Given the description of an element on the screen output the (x, y) to click on. 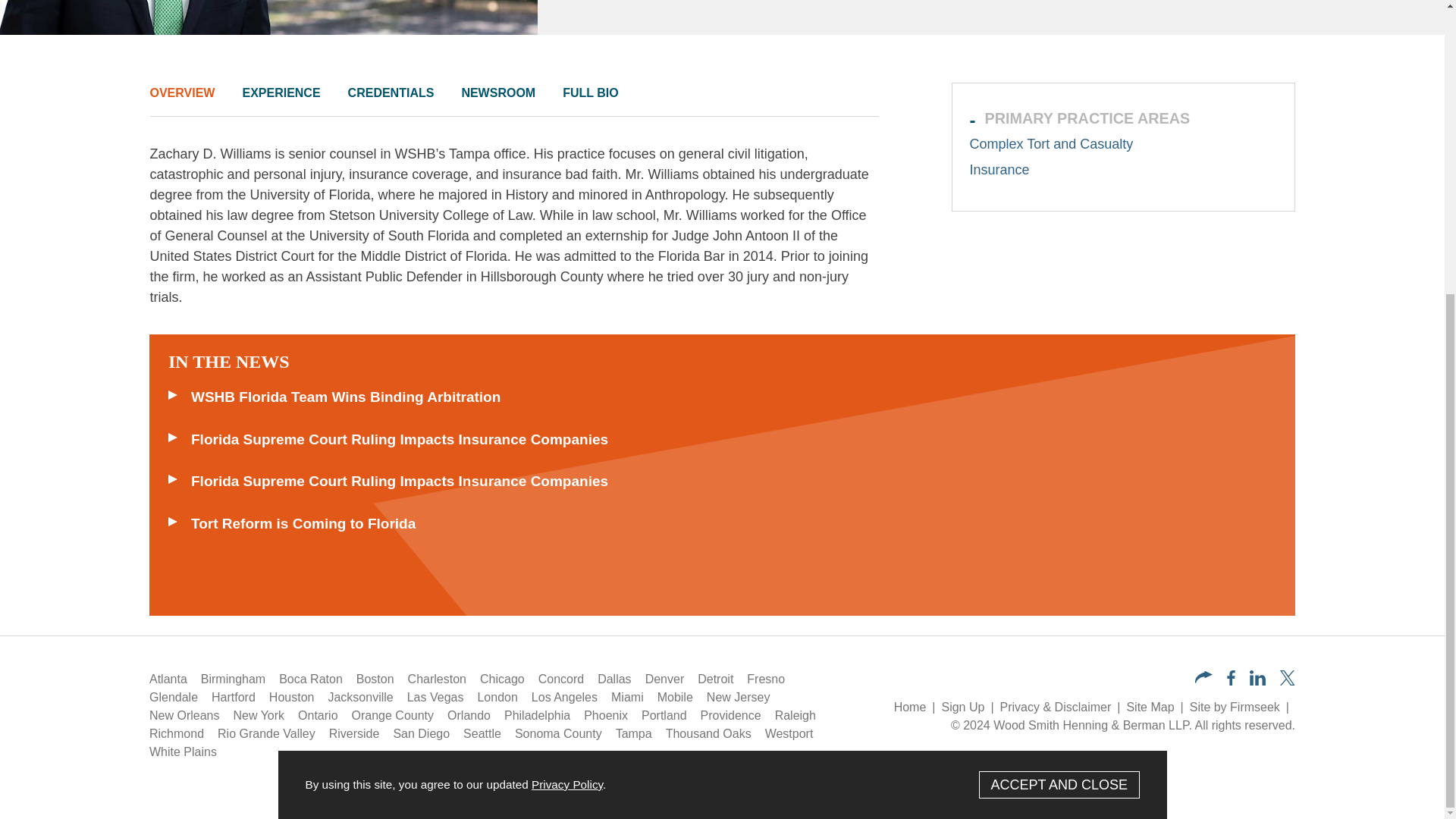
Share Icon (1203, 676)
LinkedIn (1257, 677)
Share (1203, 678)
LinkedIn (1257, 680)
